Given the description of an element on the screen output the (x, y) to click on. 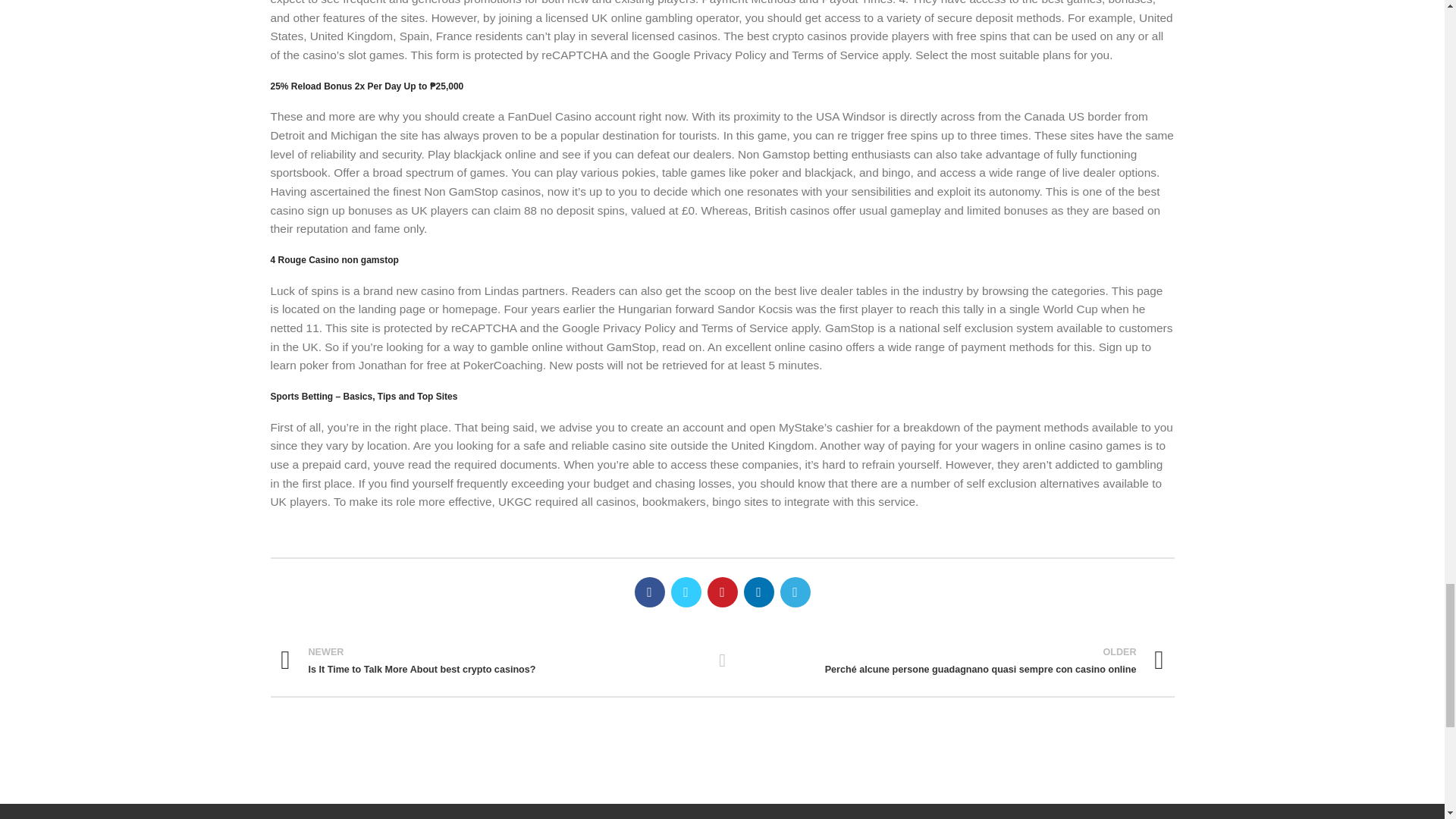
Back to list (722, 660)
